Given the description of an element on the screen output the (x, y) to click on. 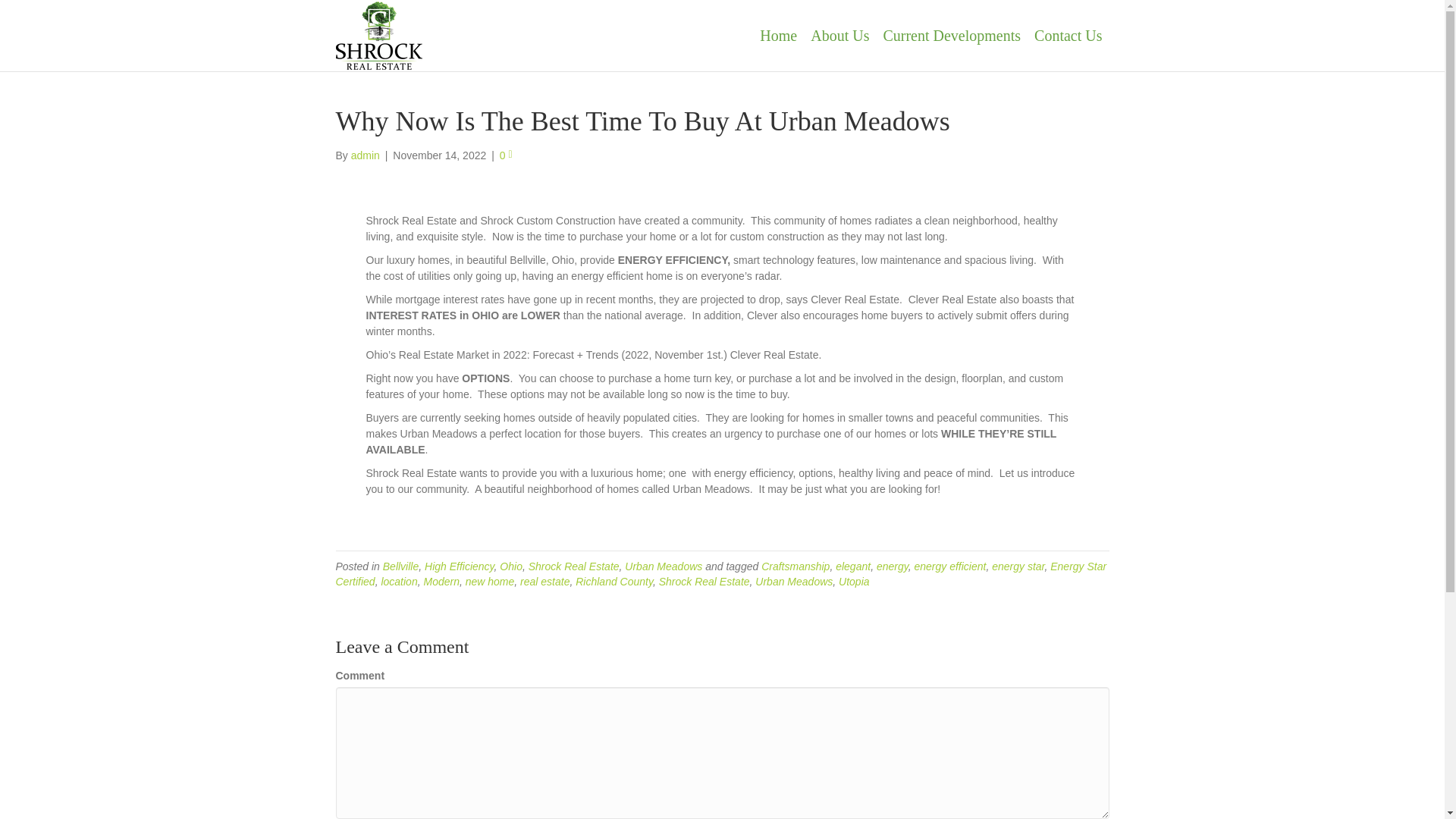
Ohio (510, 566)
Energy Star Certified (720, 574)
energy (892, 566)
energy efficient (949, 566)
admin (365, 155)
Urban Meadows (793, 581)
location (398, 581)
new home (490, 581)
Contact Us (1067, 35)
0 (505, 155)
elegant (852, 566)
Richland County (613, 581)
Shrock Real Estate (704, 581)
Home (777, 35)
Craftsmanship (795, 566)
